Given the description of an element on the screen output the (x, y) to click on. 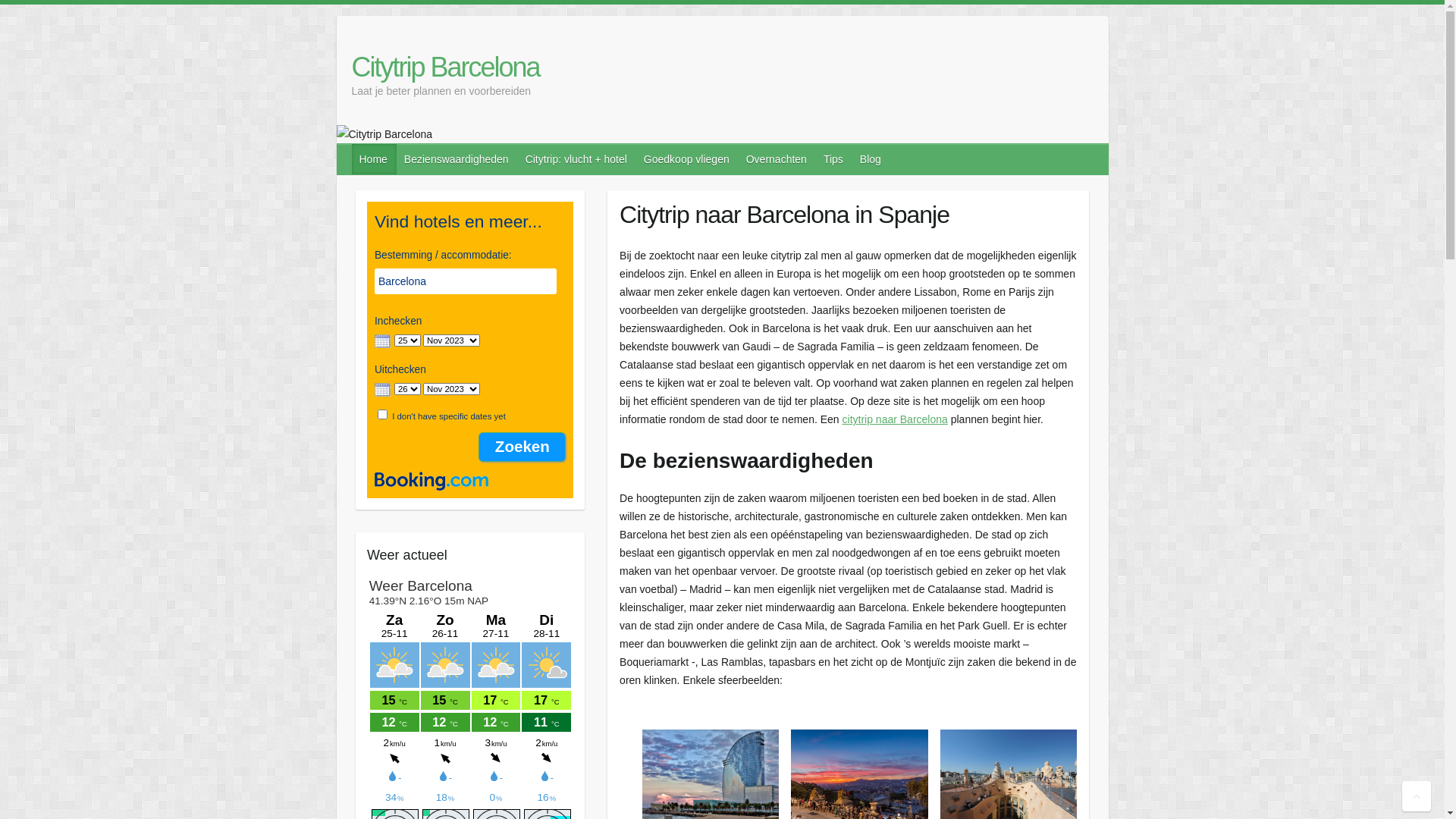
Tips Element type: text (833, 159)
Citytrip: vlucht + hotel Element type: text (576, 159)
Blog Element type: text (871, 159)
Zoeken Element type: text (521, 446)
Home Element type: text (373, 159)
citytrip naar Barcelona Element type: text (894, 419)
Citytrip Barcelona Element type: text (445, 67)
Open calendar and pick a date Element type: hover (382, 341)
Goedkoop vliegen Element type: text (687, 159)
Overnachten Element type: text (776, 159)
Bezienswaardigheden Element type: text (456, 159)
Open calendar and pick a date Element type: hover (382, 389)
